Given the description of an element on the screen output the (x, y) to click on. 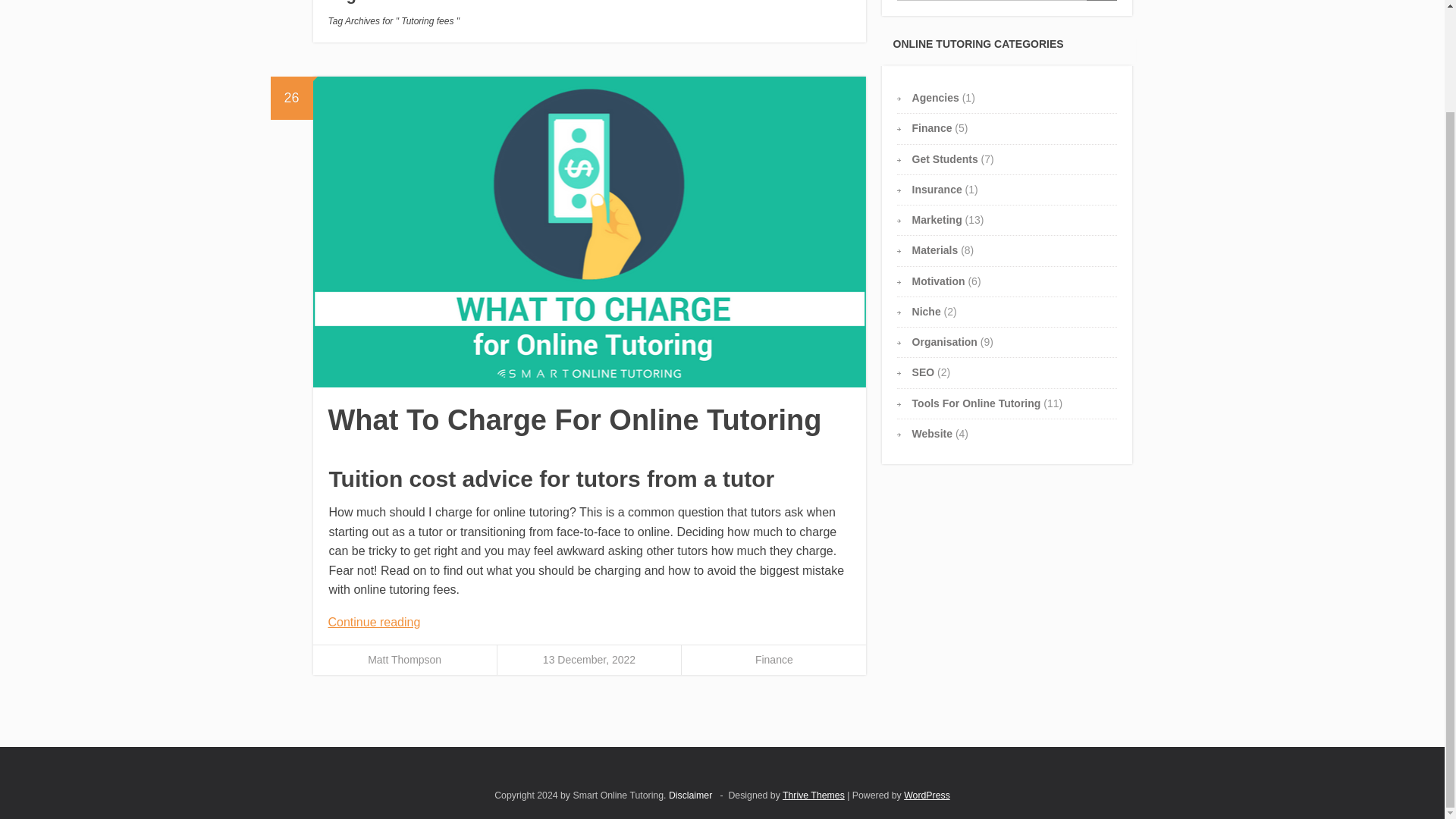
Disclaimer (689, 795)
Marketing (937, 219)
Finance (932, 128)
Website (932, 433)
Continue reading (373, 621)
Niche (926, 311)
Agencies (935, 97)
Organisation (944, 341)
Motivation (938, 280)
